Given the description of an element on the screen output the (x, y) to click on. 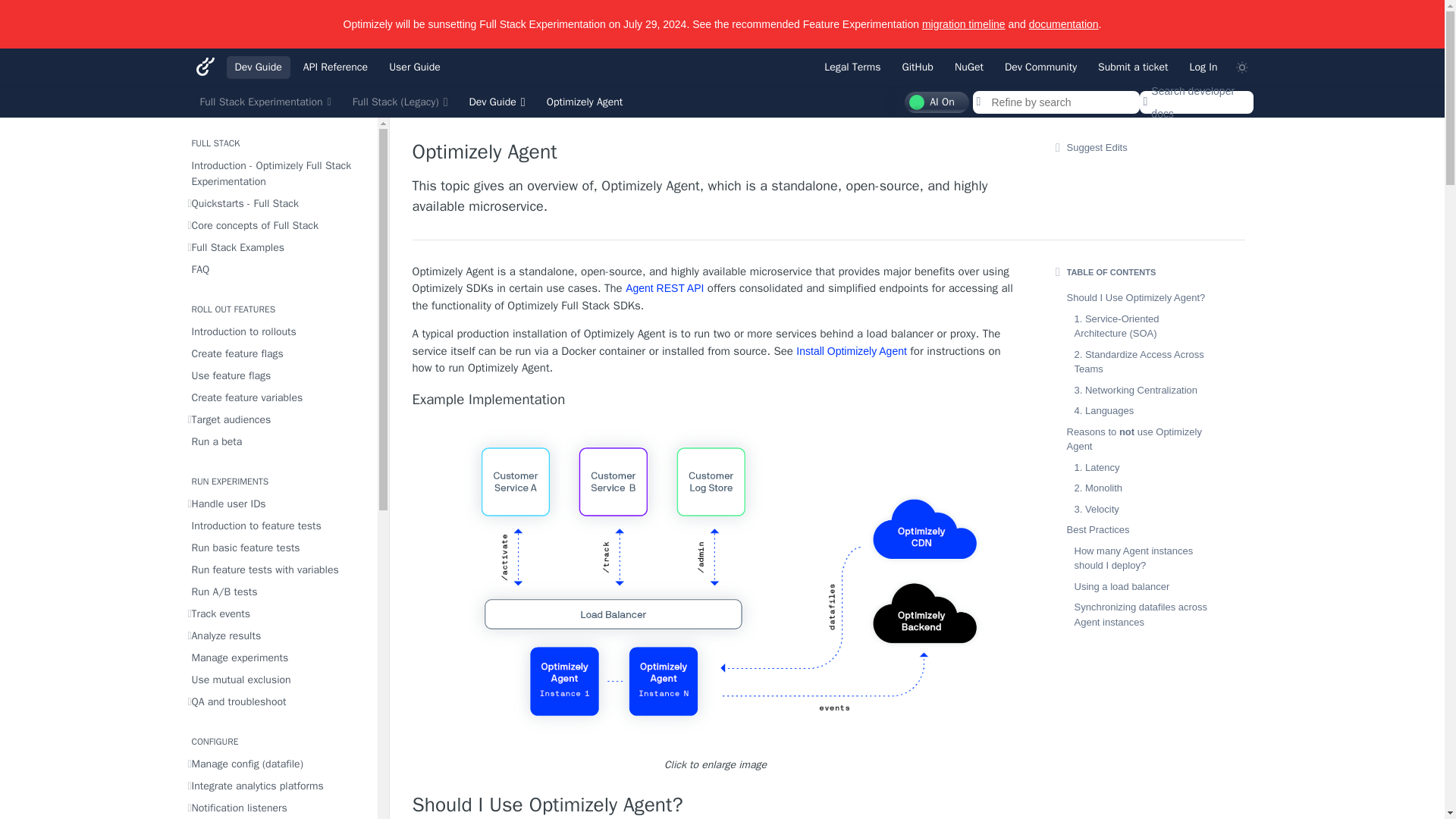
Search developer docs (1195, 101)
GitHub (917, 67)
Submit a ticket (1132, 67)
Introduction - Optimizely Full Stack Experimentation (277, 173)
documentation (1064, 24)
Log In (1202, 67)
User Guide (414, 67)
Should I Use Optimizely Agent? (715, 805)
Full Stack Experimentation (264, 101)
NuGet (968, 67)
Quickstarts - Full Stack (277, 203)
Dev Guide (496, 101)
API Reference (335, 67)
Dev Guide (257, 67)
